Given the description of an element on the screen output the (x, y) to click on. 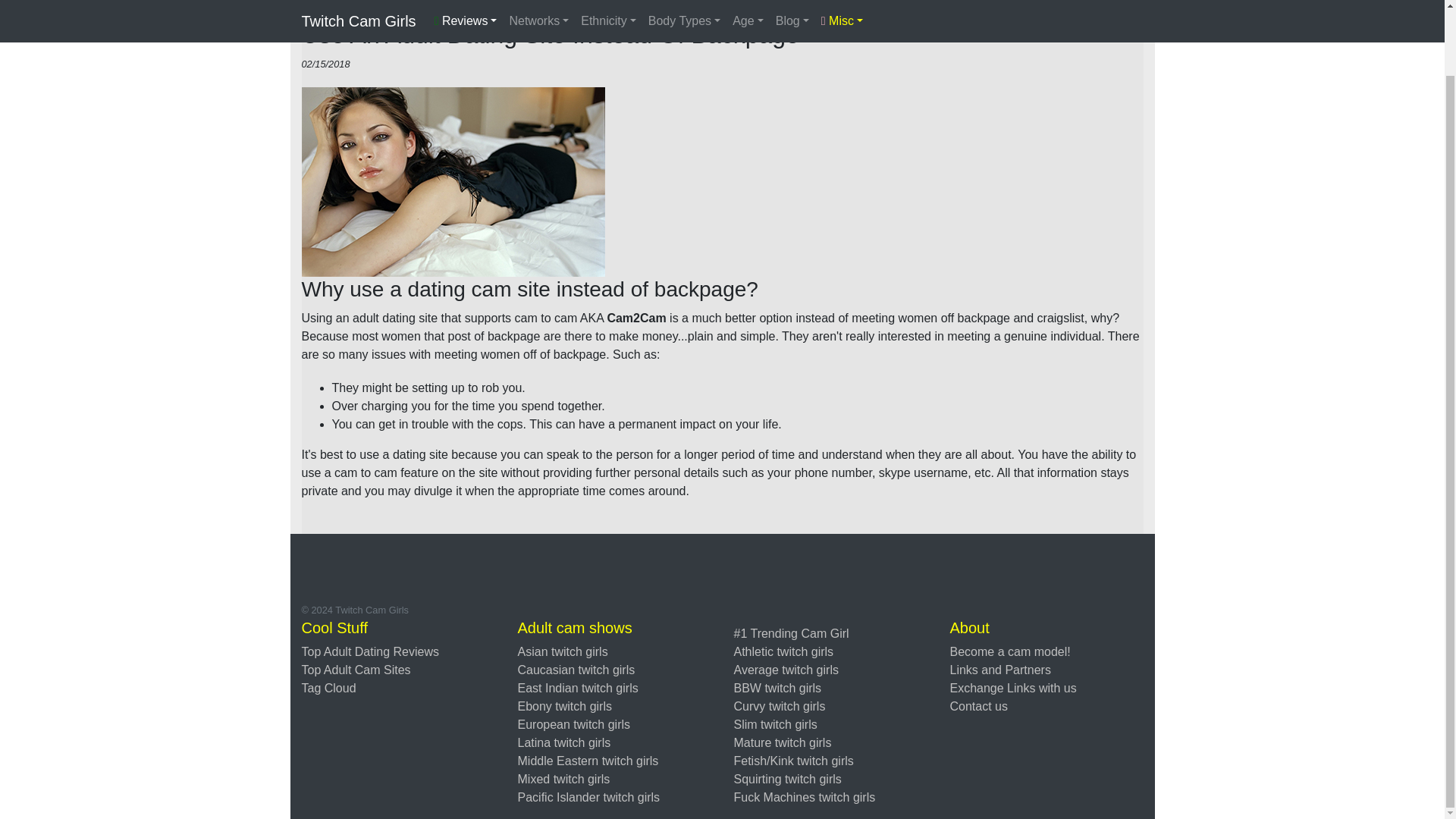
Top trending cam girl on Twitch Cam Girls (790, 633)
Browse asian twitch girls on Twitch Cam Girls (561, 651)
vr twitch girls (649, 7)
Browse latina twitch girls on Twitch Cam Girls (563, 742)
Browse caucasian twitch girls on Twitch Cam Girls (575, 669)
Browse mixed twitch girls on Twitch Cam Girls (563, 779)
mature twitch girls (350, 7)
Browse european twitch girls on Twitch Cam Girls (573, 724)
Browse athletic sex twitch girls on Twitch Cam Girls (783, 651)
Twitch Cam Girls's top sex cam site reviews (355, 669)
Browse average sex twitch girls on Twitch Cam Girls (785, 669)
Browse ebony twitch girls on Twitch Cam Girls (563, 706)
latina twitch girls (451, 7)
asian twitch girls (548, 7)
